Given the description of an element on the screen output the (x, y) to click on. 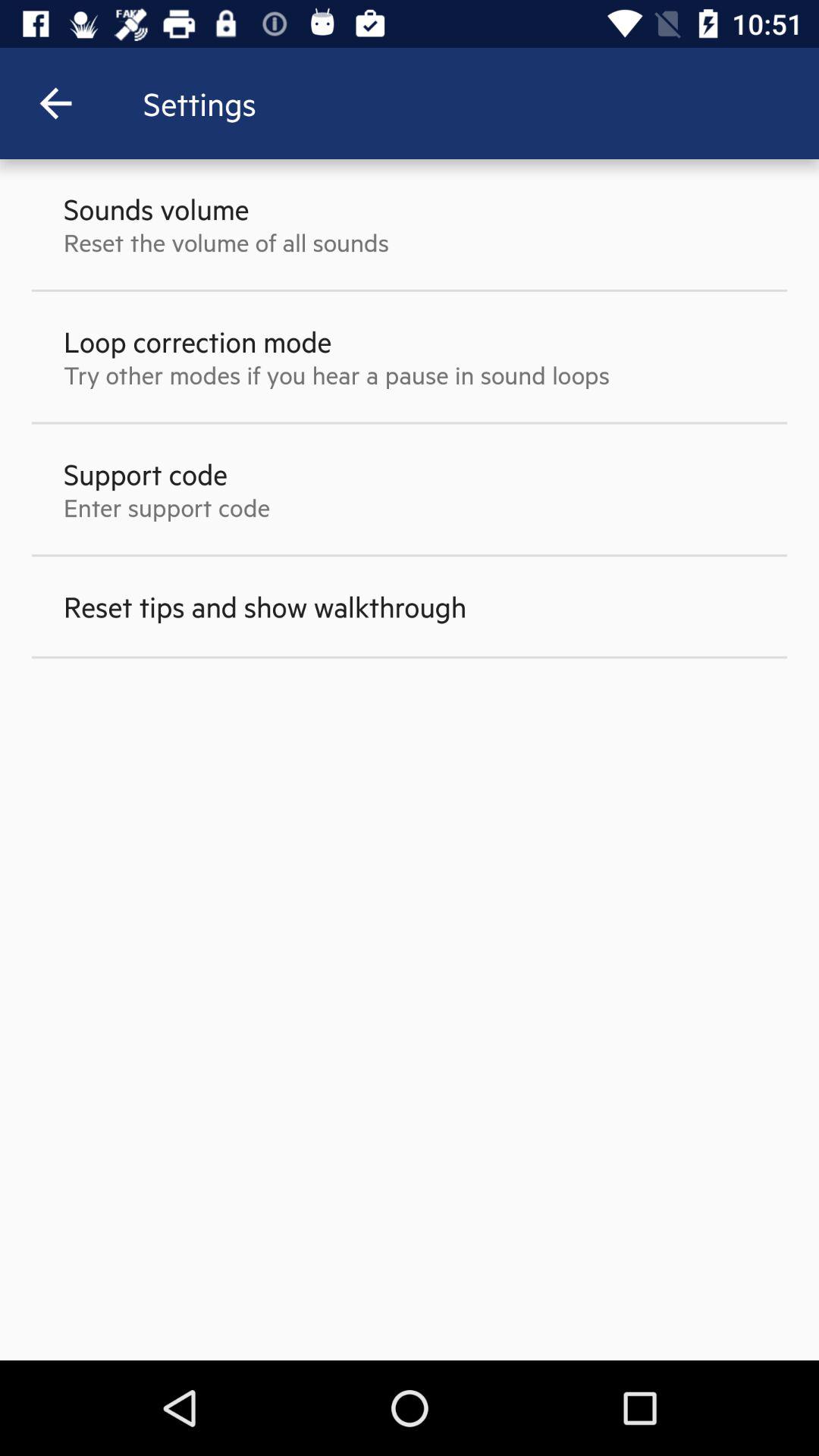
swipe to loop correction mode item (197, 341)
